Given the description of an element on the screen output the (x, y) to click on. 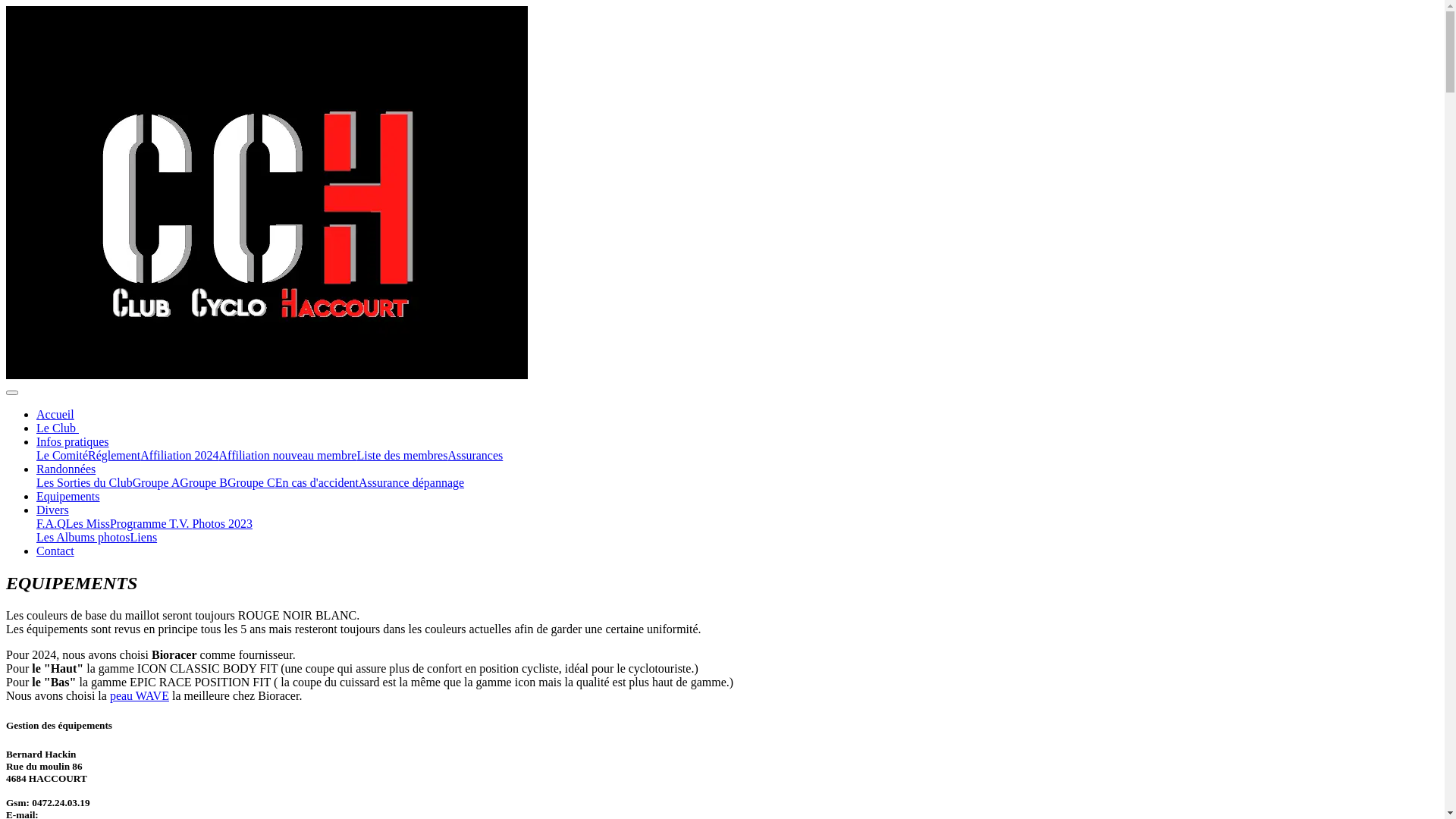
Liste des membres Element type: text (401, 454)
Equipements Element type: text (68, 495)
Affiliation 2024 Element type: text (179, 454)
Les Sorties du Club Element type: text (84, 482)
Infos pratiques Element type: text (72, 441)
Liens Element type: text (143, 536)
Photos 2023 Element type: text (221, 523)
Accueil Element type: text (55, 413)
Assurances Element type: text (474, 454)
Les Albums photos Element type: text (83, 536)
Programme T.V.  Element type: text (150, 523)
Groupe A Element type: text (156, 482)
Divers Element type: text (52, 509)
Groupe B Element type: text (203, 482)
Groupe C Element type: text (251, 482)
Le Club  Element type: text (57, 427)
Affiliation nouveau membre Element type: text (288, 454)
F.A.Q Element type: text (50, 523)
peau WAVE Element type: text (139, 695)
Contact Element type: text (55, 550)
En cas d'accident Element type: text (316, 482)
Les Miss Element type: text (87, 523)
